Given the description of an element on the screen output the (x, y) to click on. 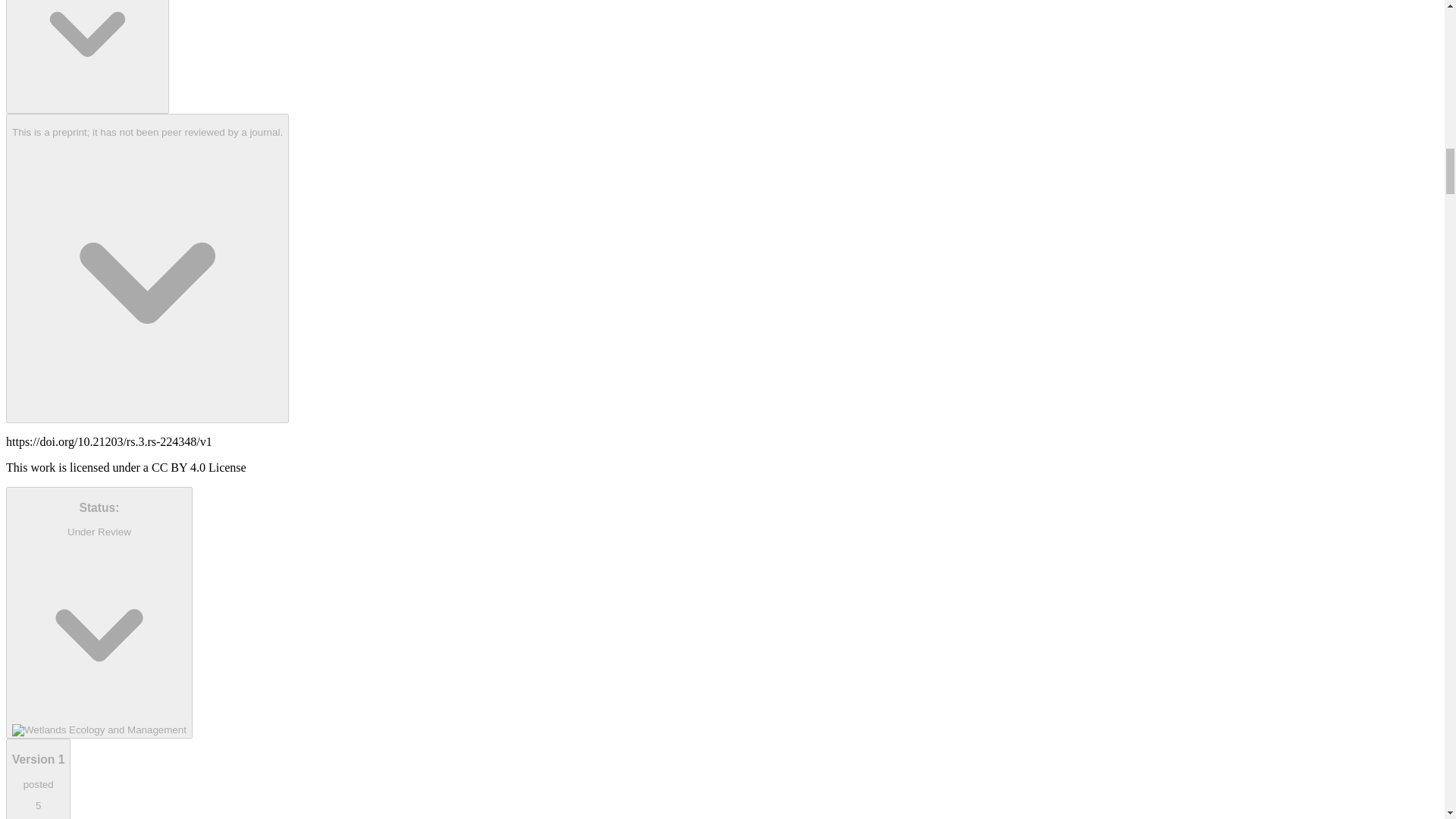
Catherine Tarasoff, Sharon Gillies (86, 56)
